Given the description of an element on the screen output the (x, y) to click on. 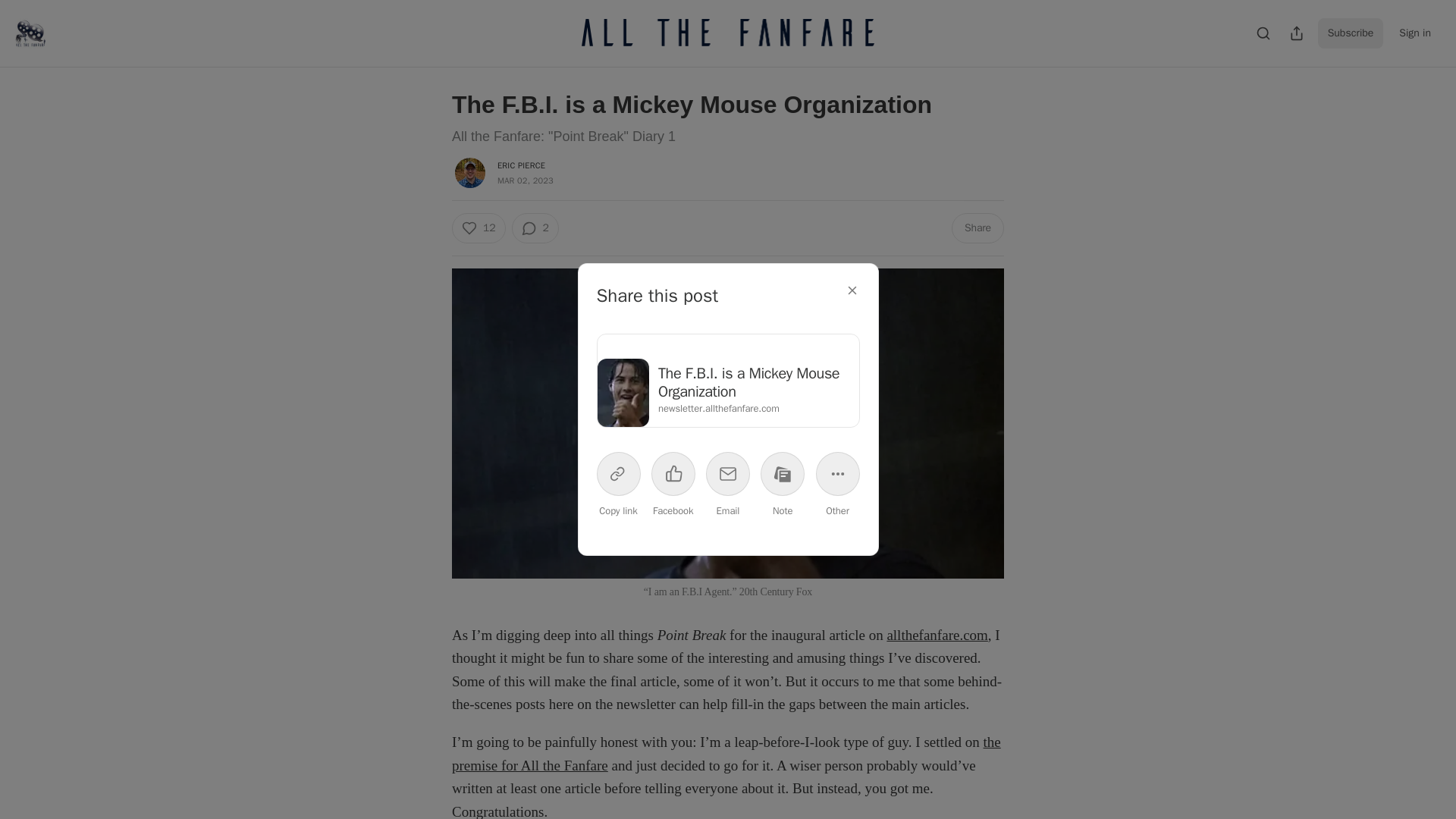
the premise for All the Fanfare (726, 753)
ERIC PIERCE (520, 164)
Share (978, 227)
Sign in (1415, 33)
2 (534, 227)
Subscribe (1350, 33)
12 (478, 227)
allthefanfare.com (936, 634)
